Given the description of an element on the screen output the (x, y) to click on. 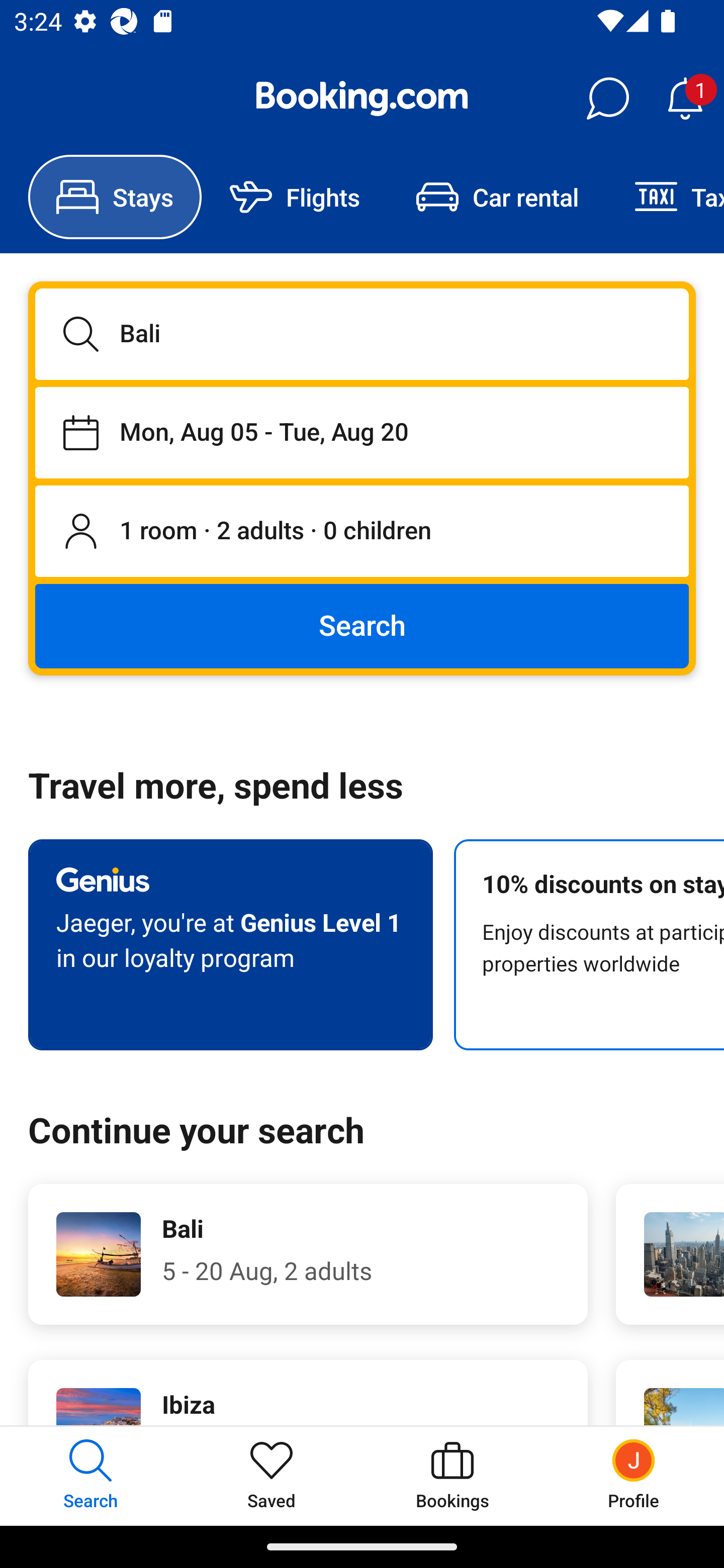
Messages (607, 98)
Notifications (685, 98)
Stays (114, 197)
Flights (294, 197)
Car rental (497, 197)
Taxi (665, 197)
Bali (361, 333)
Staying from Mon, Aug 05 until Tue, Aug 20 (361, 432)
1 room, 2 adults, 0 children (361, 531)
Search (361, 625)
Bali 5 - 20 Aug, 2 adults (307, 1253)
Saved (271, 1475)
Bookings (452, 1475)
Profile (633, 1475)
